Given the description of an element on the screen output the (x, y) to click on. 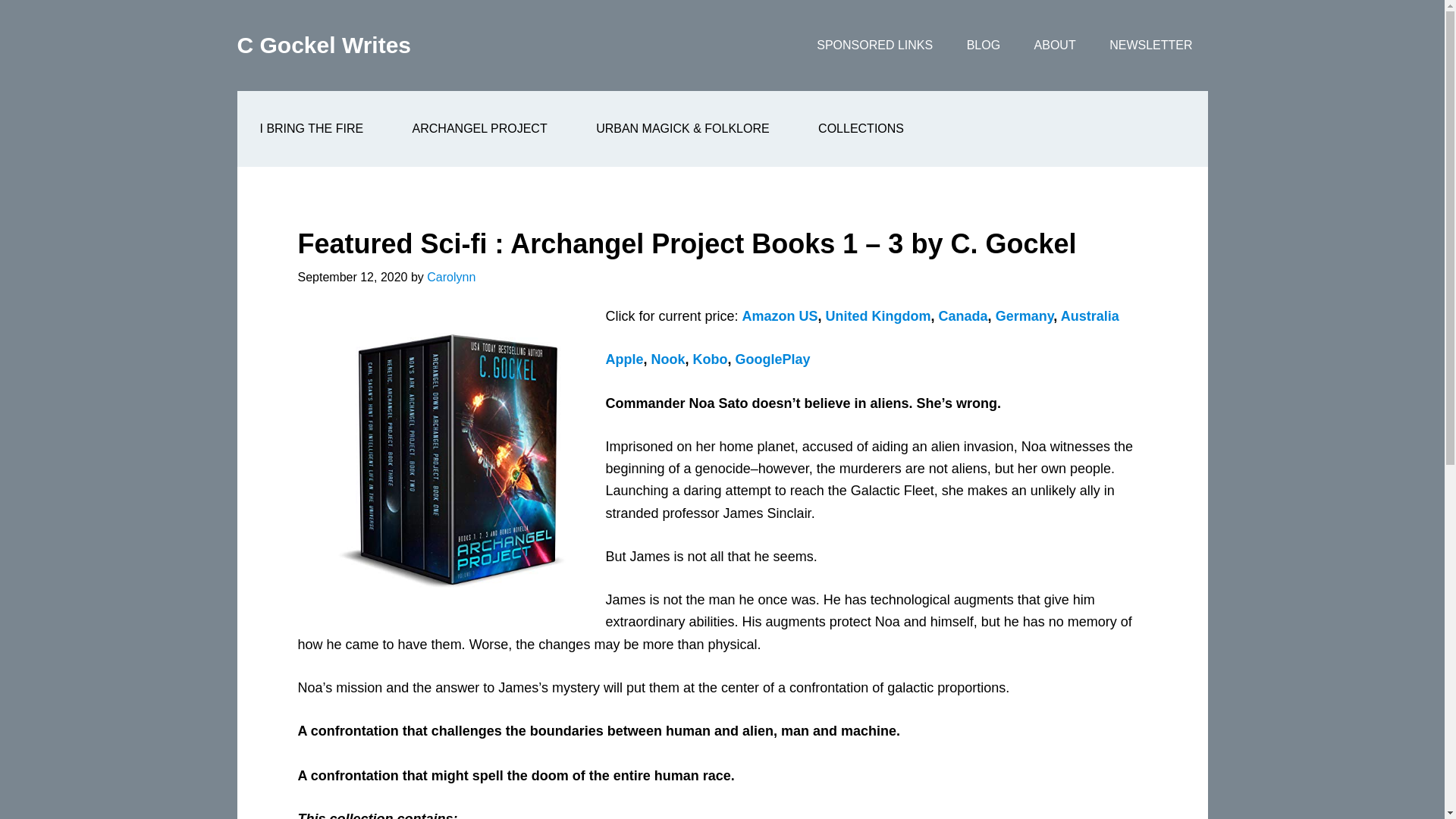
COLLECTIONS (860, 128)
SPONSORED LINKS (874, 45)
Germany (1024, 315)
Australia (1090, 315)
Apple (624, 359)
C Gockel Writes (322, 44)
Amazon US (780, 315)
Canada (963, 315)
Carolynn (451, 277)
United Kingdom (878, 315)
